Given the description of an element on the screen output the (x, y) to click on. 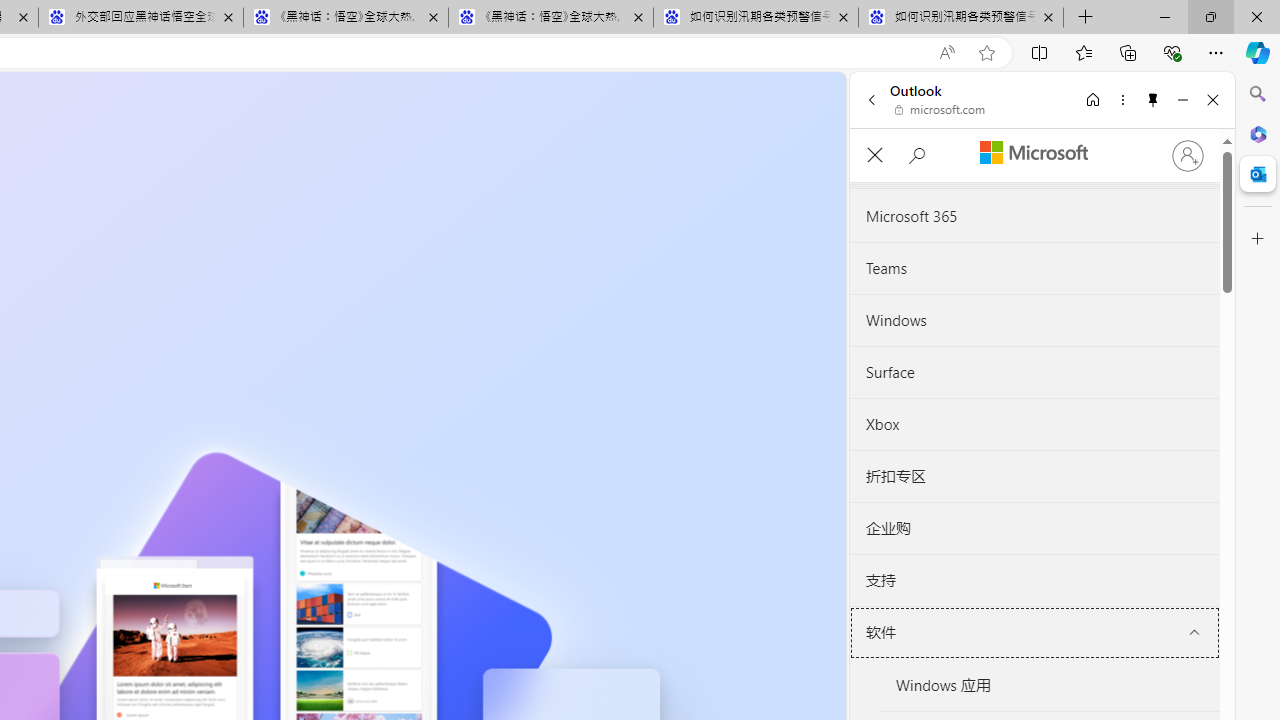
Microsoft (1033, 153)
Surface (1034, 371)
